Given the description of an element on the screen output the (x, y) to click on. 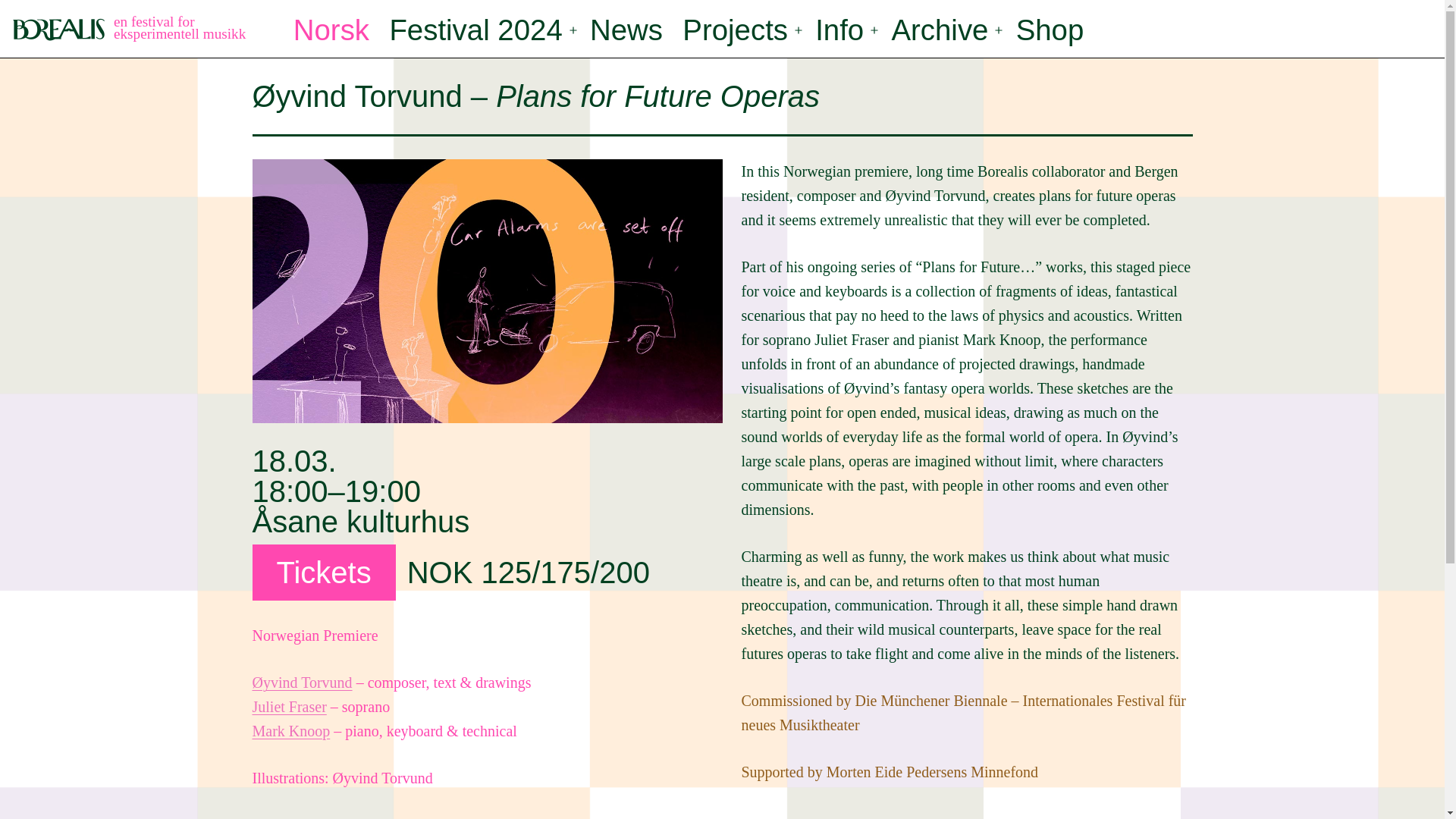
Norsk (331, 30)
News (625, 30)
Info (839, 30)
Archive (938, 30)
Projects (734, 30)
Festival 2024 (475, 30)
